Given the description of an element on the screen output the (x, y) to click on. 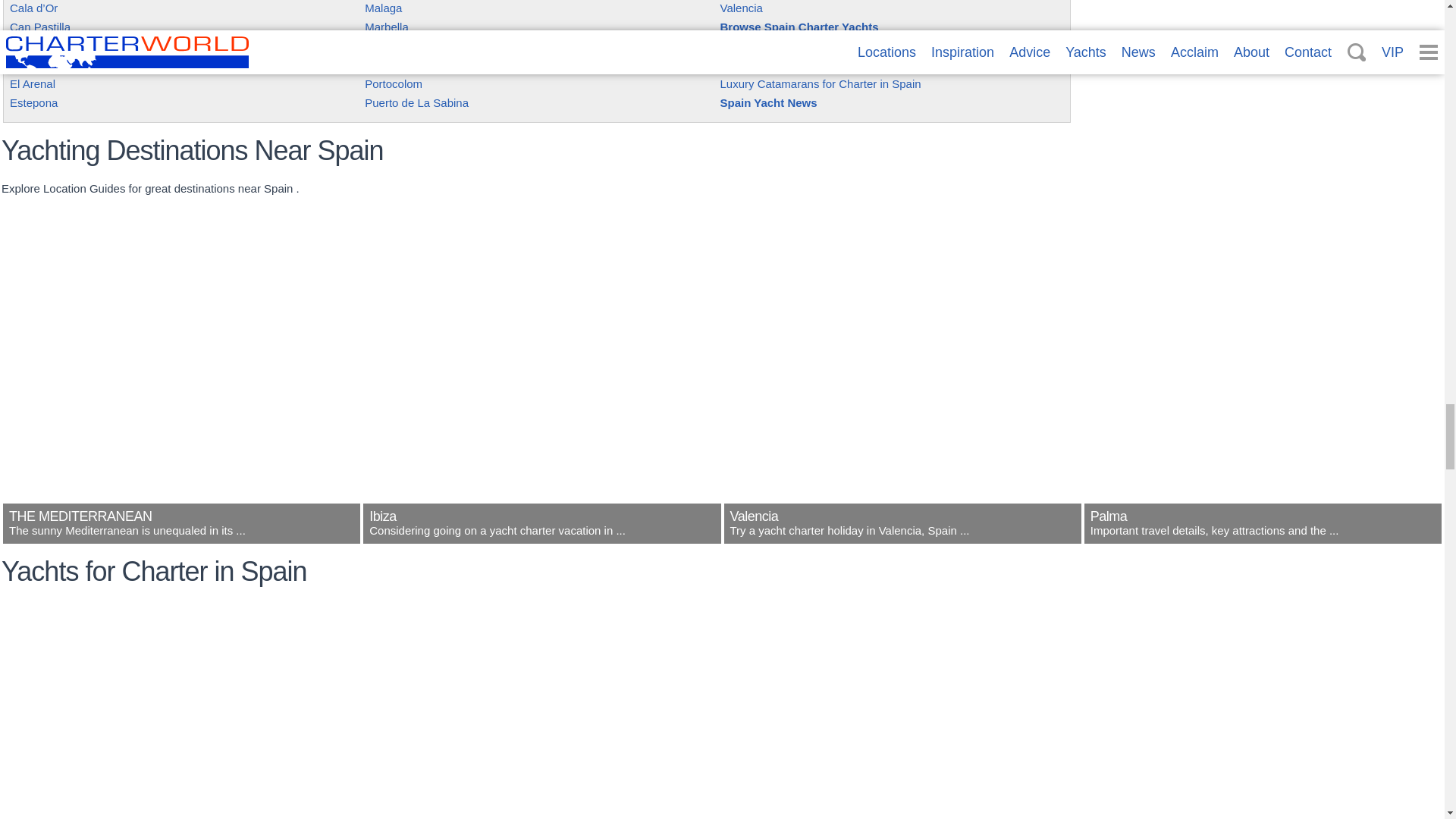
Ibiza (541, 533)
THE MEDITERRANEAN (180, 533)
Valencia (901, 533)
Palma (1262, 533)
